Given the description of an element on the screen output the (x, y) to click on. 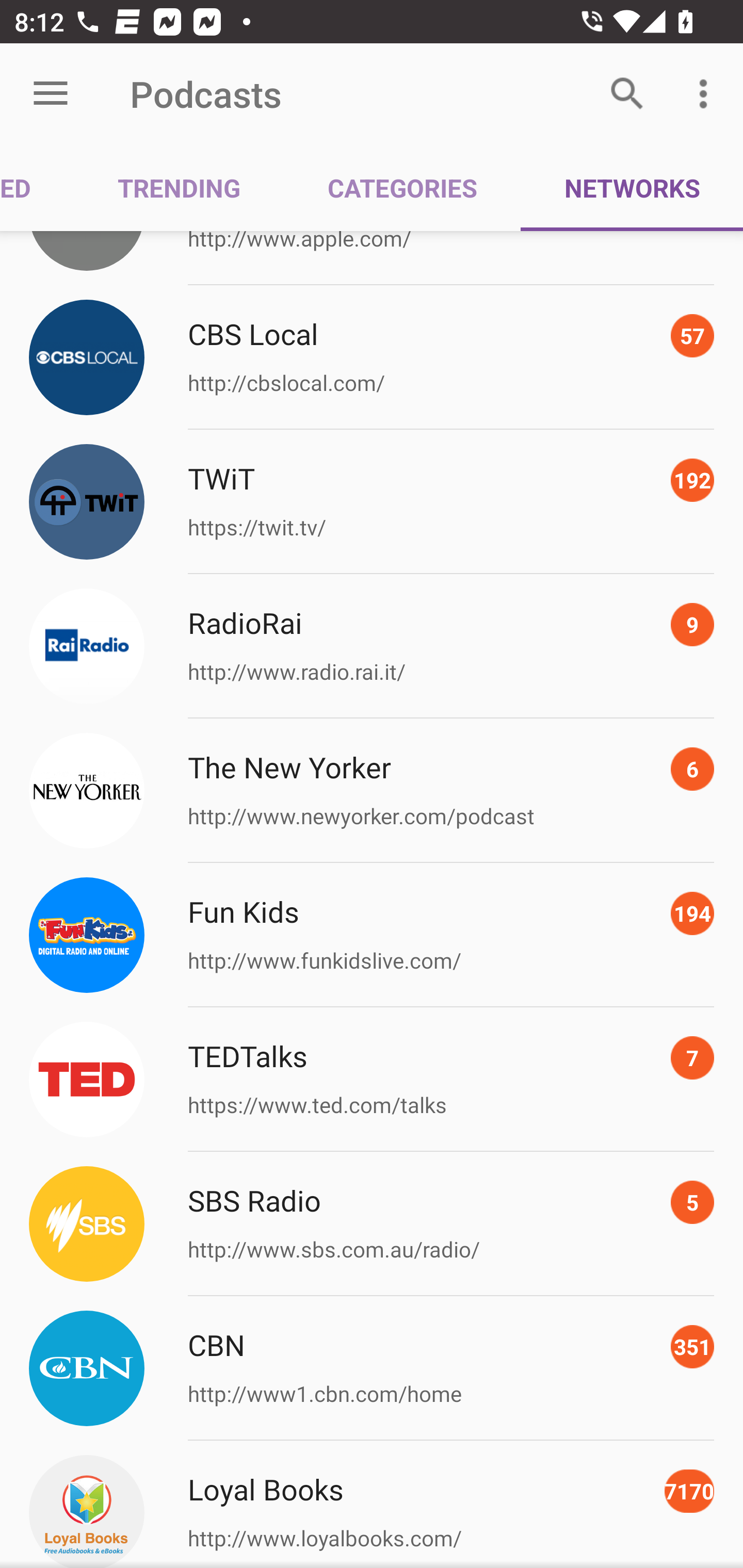
Open menu (50, 93)
Search (626, 93)
More options (706, 93)
TRENDING (178, 187)
CATEGORIES (401, 187)
NETWORKS (631, 187)
Picture CBS Local 57 http://cbslocal.com/ (371, 357)
Picture TWiT 192 https://twit.tv/ (371, 501)
Picture RadioRai 9 http://www.radio.rai.it/ (371, 645)
Picture Fun Kids 194 http://www.funkidslive.com/ (371, 934)
Picture TEDTalks 7 https://www.ted.com/talks (371, 1079)
Picture SBS Radio 5 http://www.sbs.com.au/radio/ (371, 1224)
Picture CBN 351 http://www1.cbn.com/home (371, 1368)
